Given the description of an element on the screen output the (x, y) to click on. 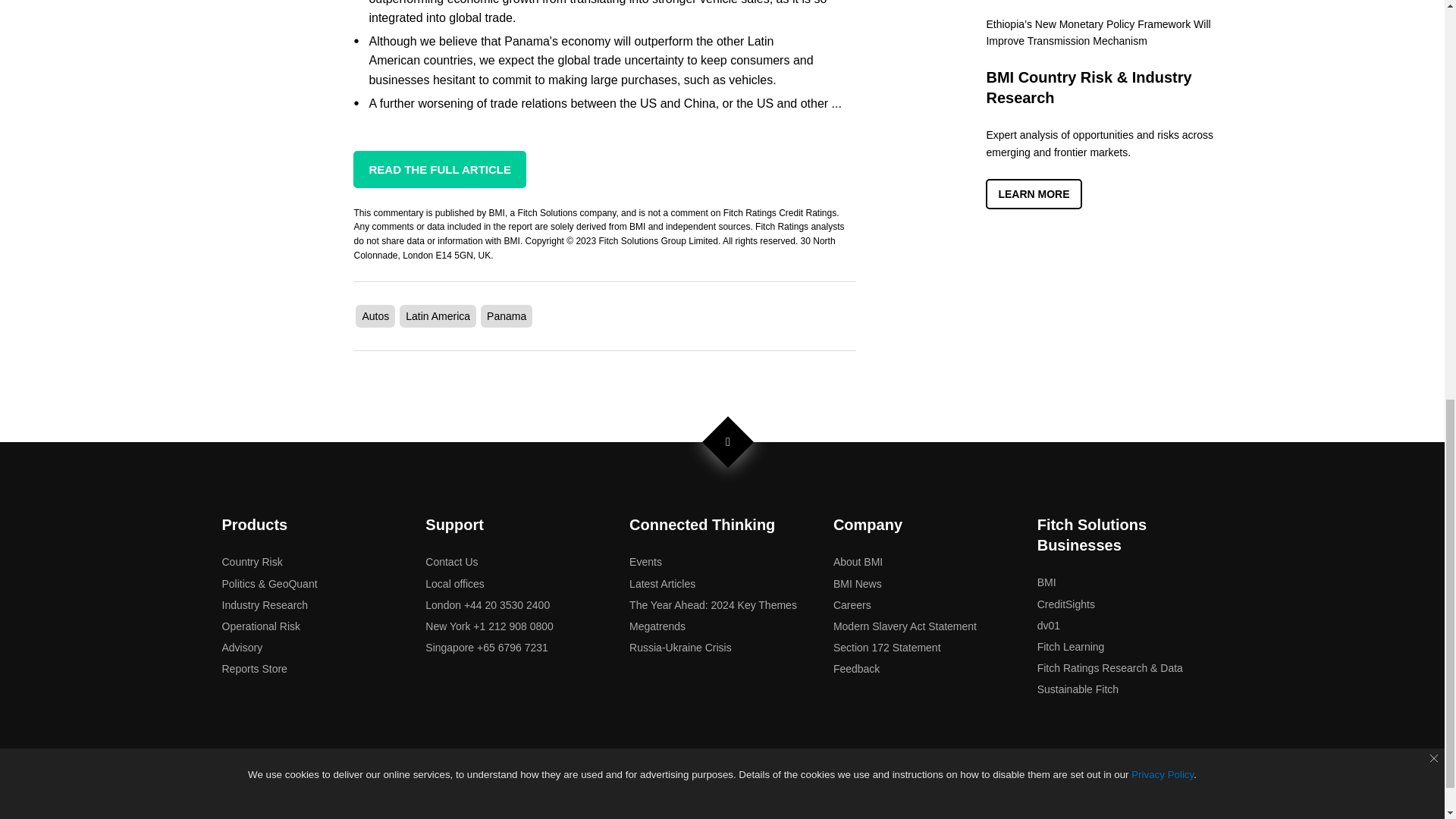
Latin America (438, 316)
Country Risk (251, 562)
LEARN MORE (1033, 194)
Industry Research (264, 604)
Advisory (241, 647)
Panama (505, 316)
Operational Risk (260, 625)
Reports Store (253, 668)
READ THE FULL ARTICLE (439, 168)
Autos (374, 316)
